Given the description of an element on the screen output the (x, y) to click on. 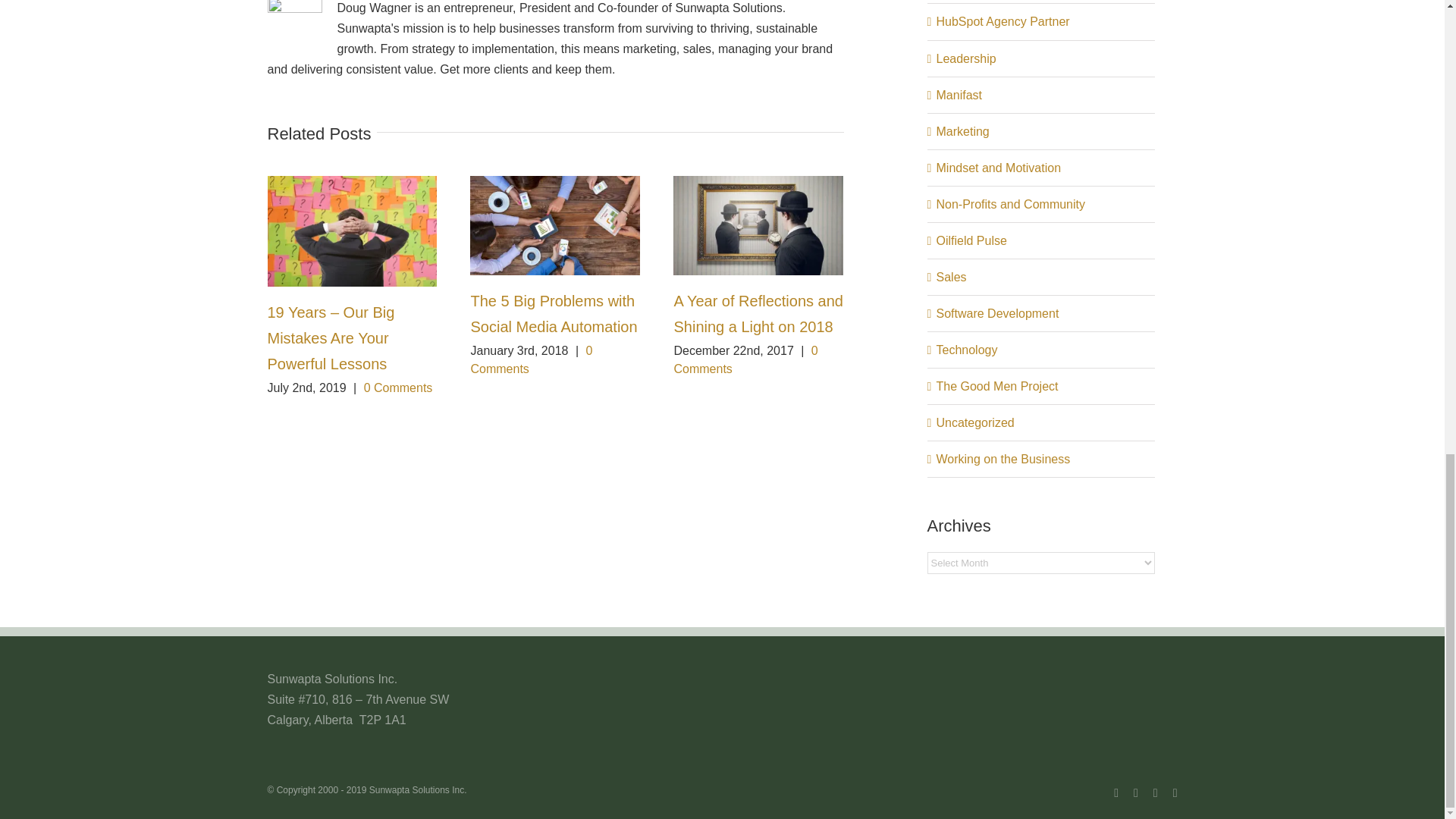
The 5 Big Problems with Social Media Automation (553, 313)
0 Comments (531, 359)
0 Comments (398, 387)
